Given the description of an element on the screen output the (x, y) to click on. 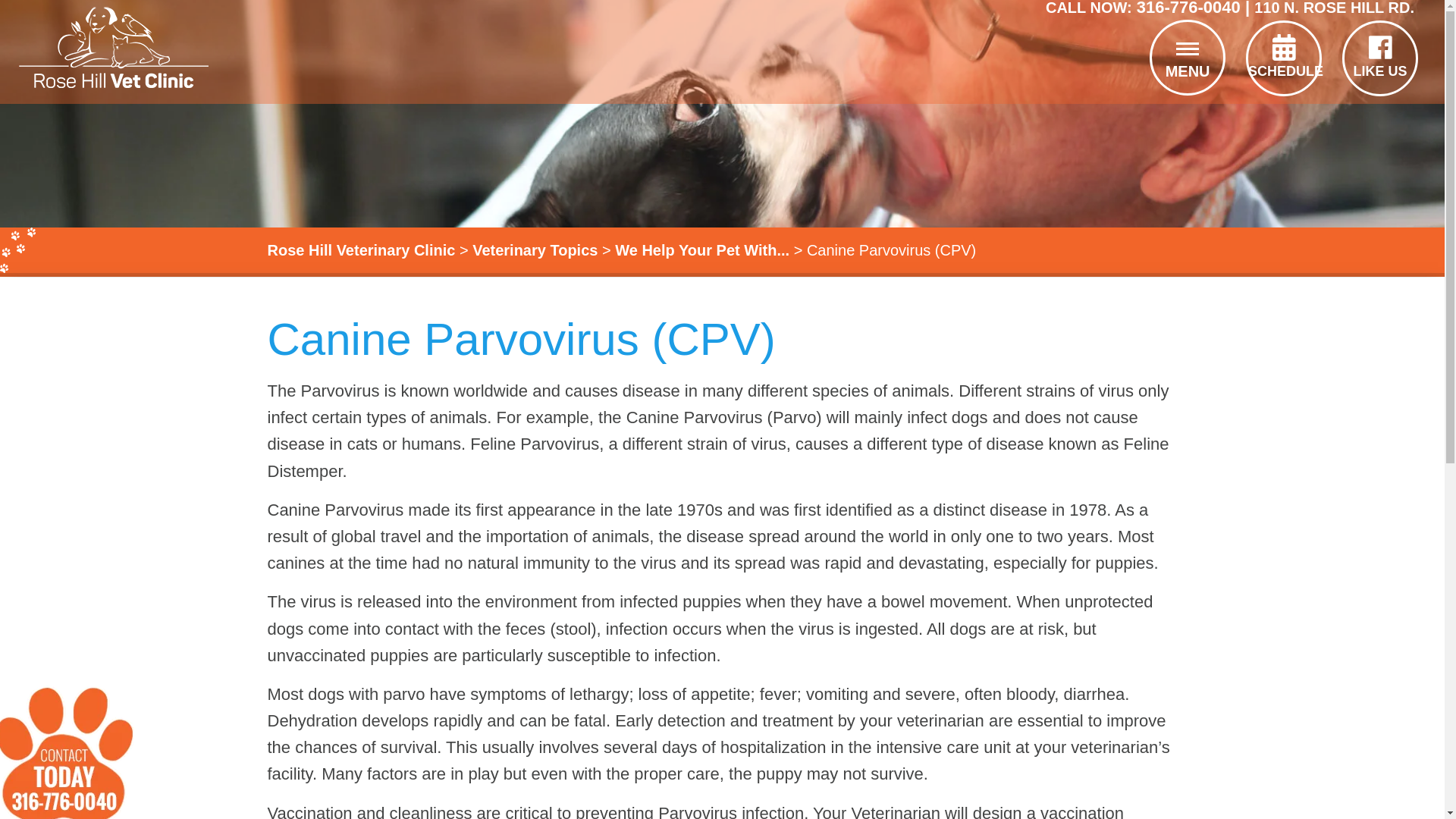
MENU (1187, 52)
Rose Hill Veterinary Clinic (360, 249)
110 N. ROSE HILL RD. (1333, 7)
Veterinary Topics (533, 249)
Go to Veterinary Topics. (533, 249)
Go to Rose Hill Veterinary Clinic. (360, 249)
We Help Your Pet With... (701, 249)
LIKE US (1380, 56)
SCHEDULE (1284, 56)
Go to the We Help Your Pet With... Category archives. (701, 249)
